Given the description of an element on the screen output the (x, y) to click on. 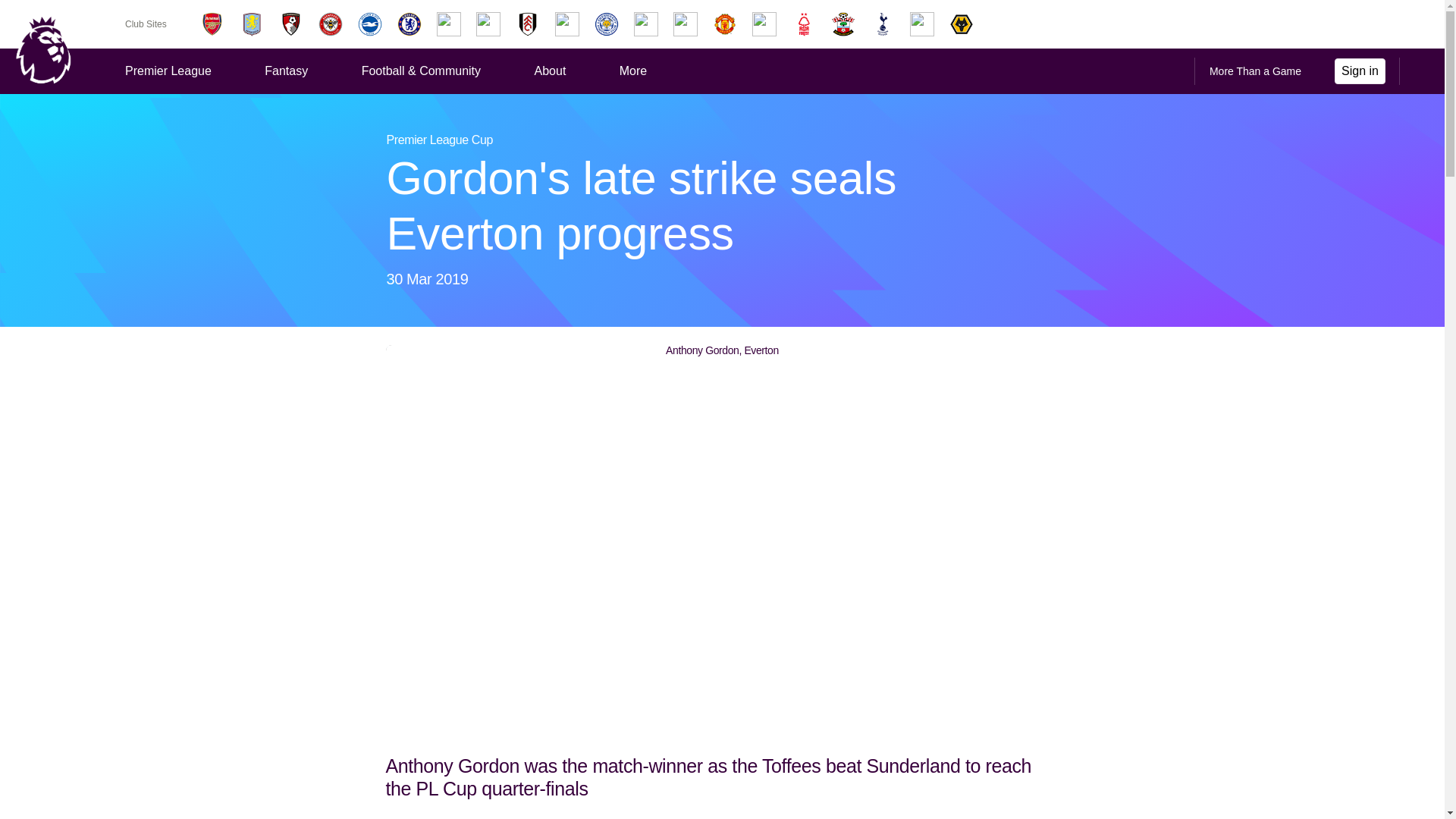
Nottingham Forest (803, 24)
Aston Villa (250, 24)
AFC Bournemouth (290, 24)
Ipswich Town (566, 24)
Leicester (606, 24)
Newcastle United (763, 24)
West Ham United (922, 24)
Southampton (843, 24)
Manchester City (684, 24)
Crystal Palace (448, 24)
Brentford (330, 24)
Liverpool (645, 24)
Fulham (527, 24)
Manchester United (724, 24)
Chelsea (409, 24)
